Given the description of an element on the screen output the (x, y) to click on. 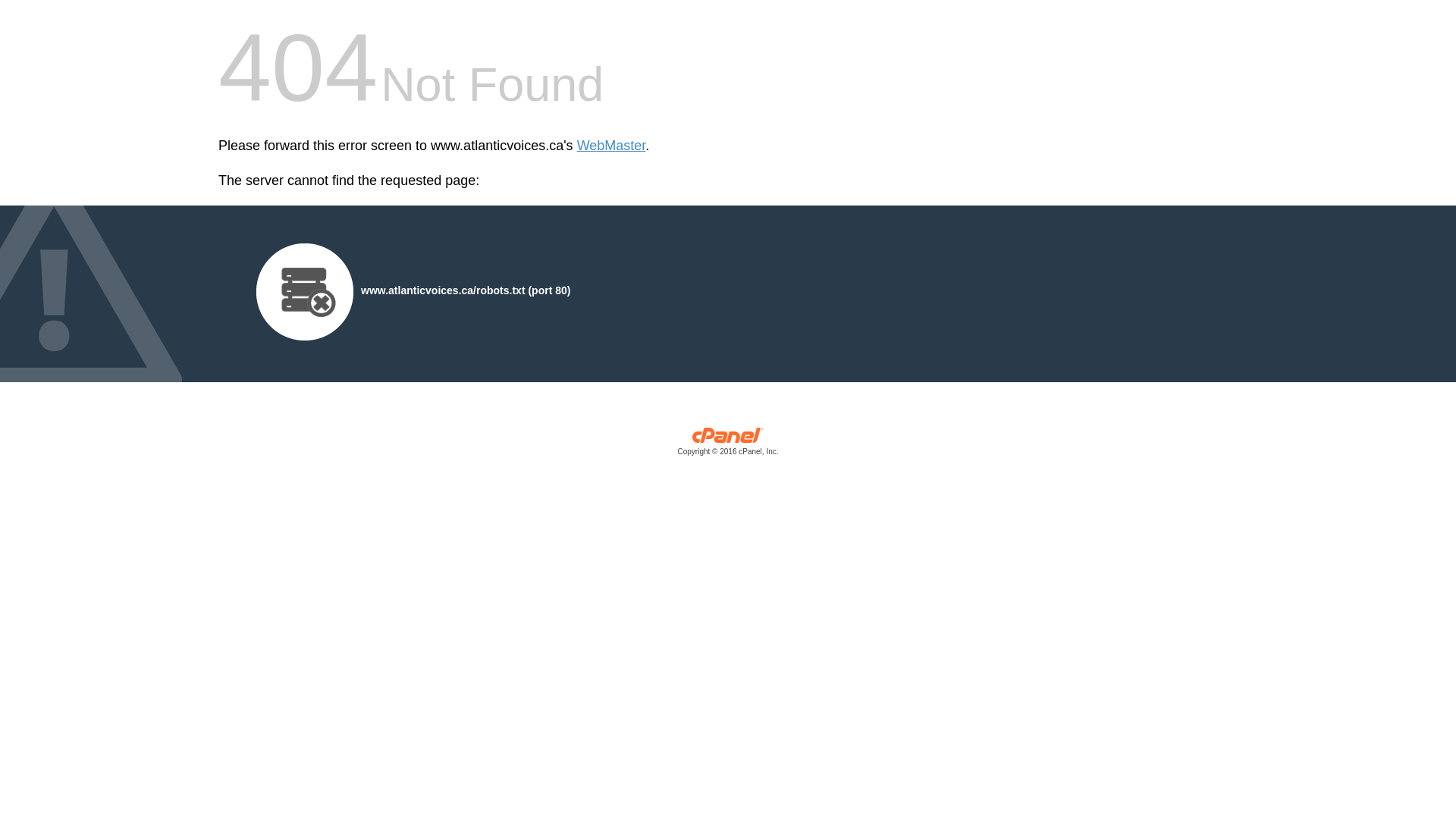
WebMaster Element type: text (611, 145)
